Given the description of an element on the screen output the (x, y) to click on. 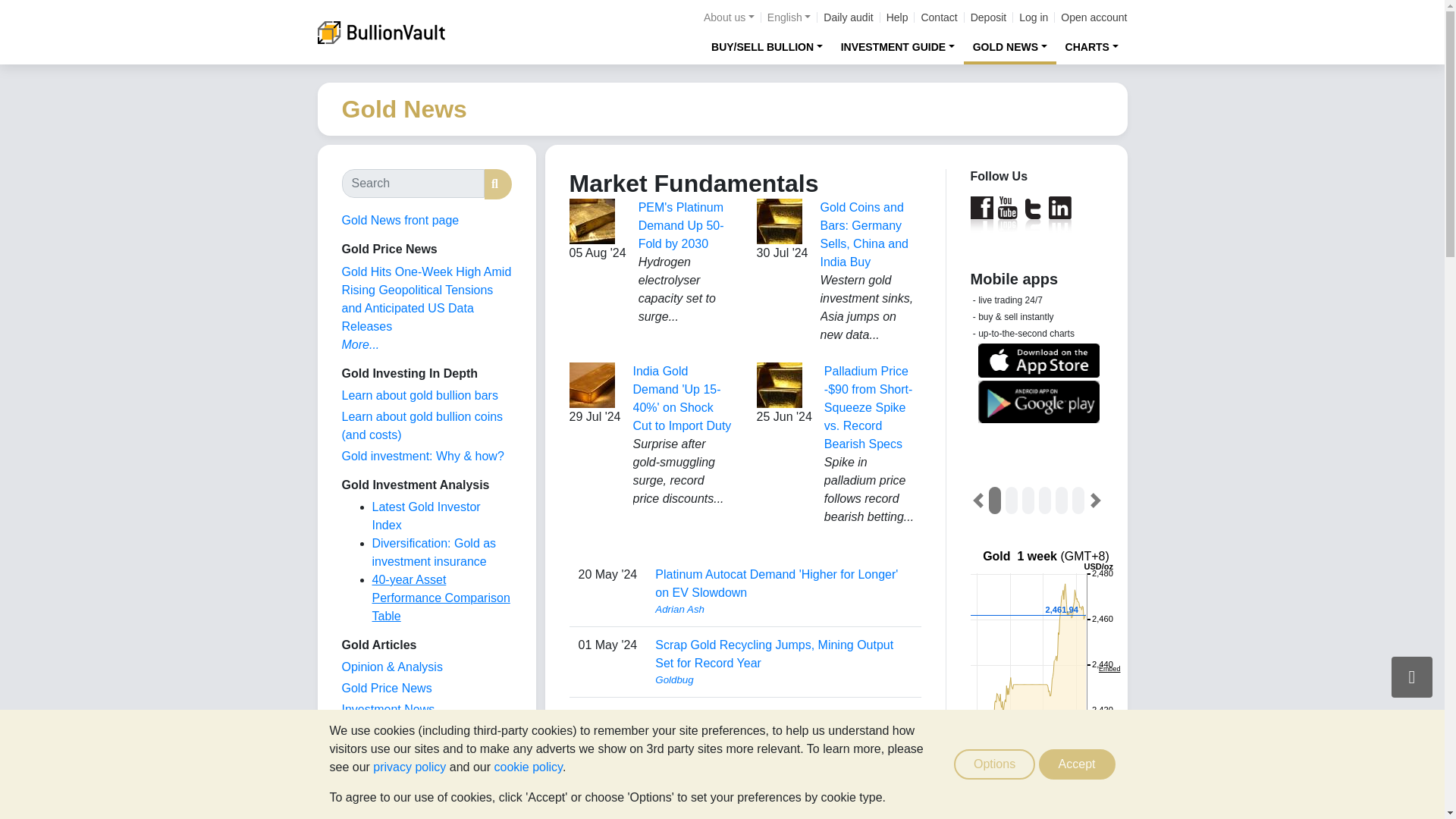
privacy policy (408, 766)
Enter the terms you wish to search for. (411, 183)
Gold Investor Index (393, 730)
English (788, 17)
cookie policy (528, 766)
Books about Gold Reviewed (372, 814)
About us (728, 17)
Investment News (386, 708)
View user profile. (783, 816)
View user profile. (783, 679)
